Given the description of an element on the screen output the (x, y) to click on. 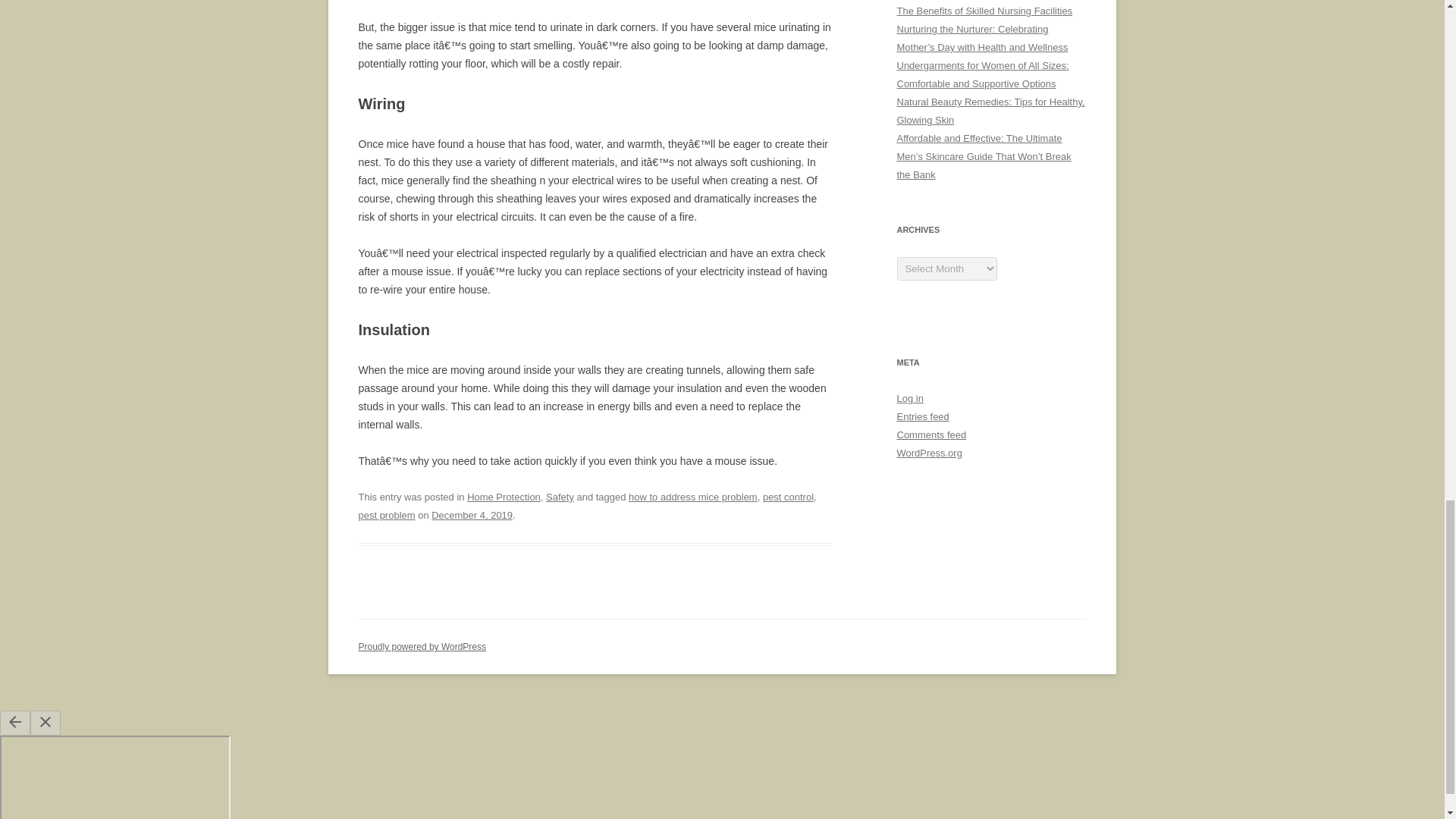
December 4, 2019 (471, 514)
Safety (559, 496)
Semantic Personal Publishing Platform (422, 646)
Natural Beauty Remedies: Tips for Healthy, Glowing Skin (990, 111)
Log in (909, 398)
pest control (787, 496)
how to address mice problem (692, 496)
The Benefits of Skilled Nursing Facilities (983, 10)
Comments feed (931, 434)
1:24 am (471, 514)
pest problem (386, 514)
Home Protection (503, 496)
Entries feed (922, 416)
